Given the description of an element on the screen output the (x, y) to click on. 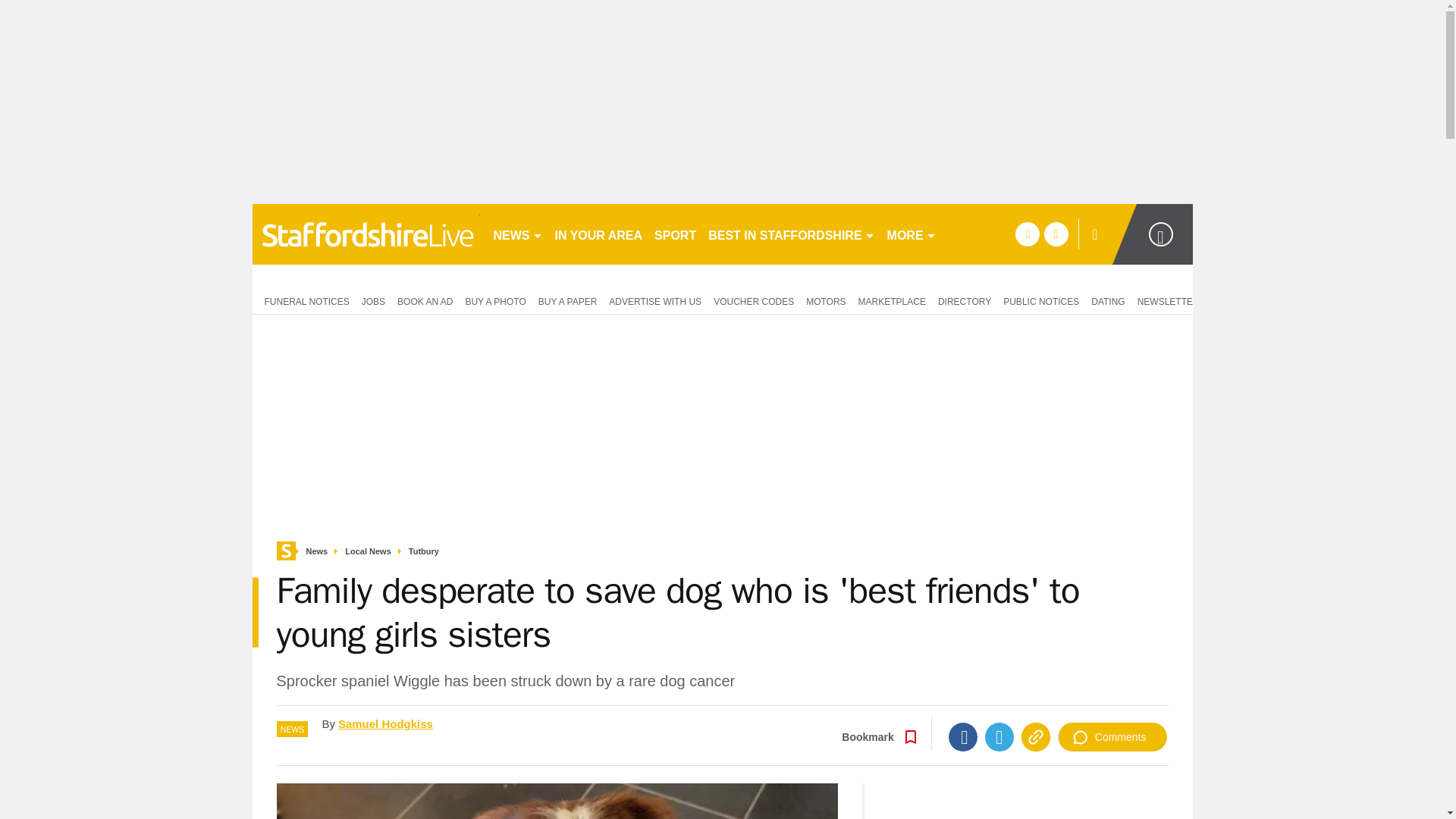
Comments (1112, 736)
facebook (1026, 233)
burtonmail (365, 233)
BEST IN STAFFORDSHIRE (790, 233)
ADVERTISE WITH US (654, 300)
MORE (911, 233)
FUNERAL NOTICES (303, 300)
JOBS (373, 300)
VOUCHER CODES (753, 300)
MARKETPLACE (891, 300)
